Given the description of an element on the screen output the (x, y) to click on. 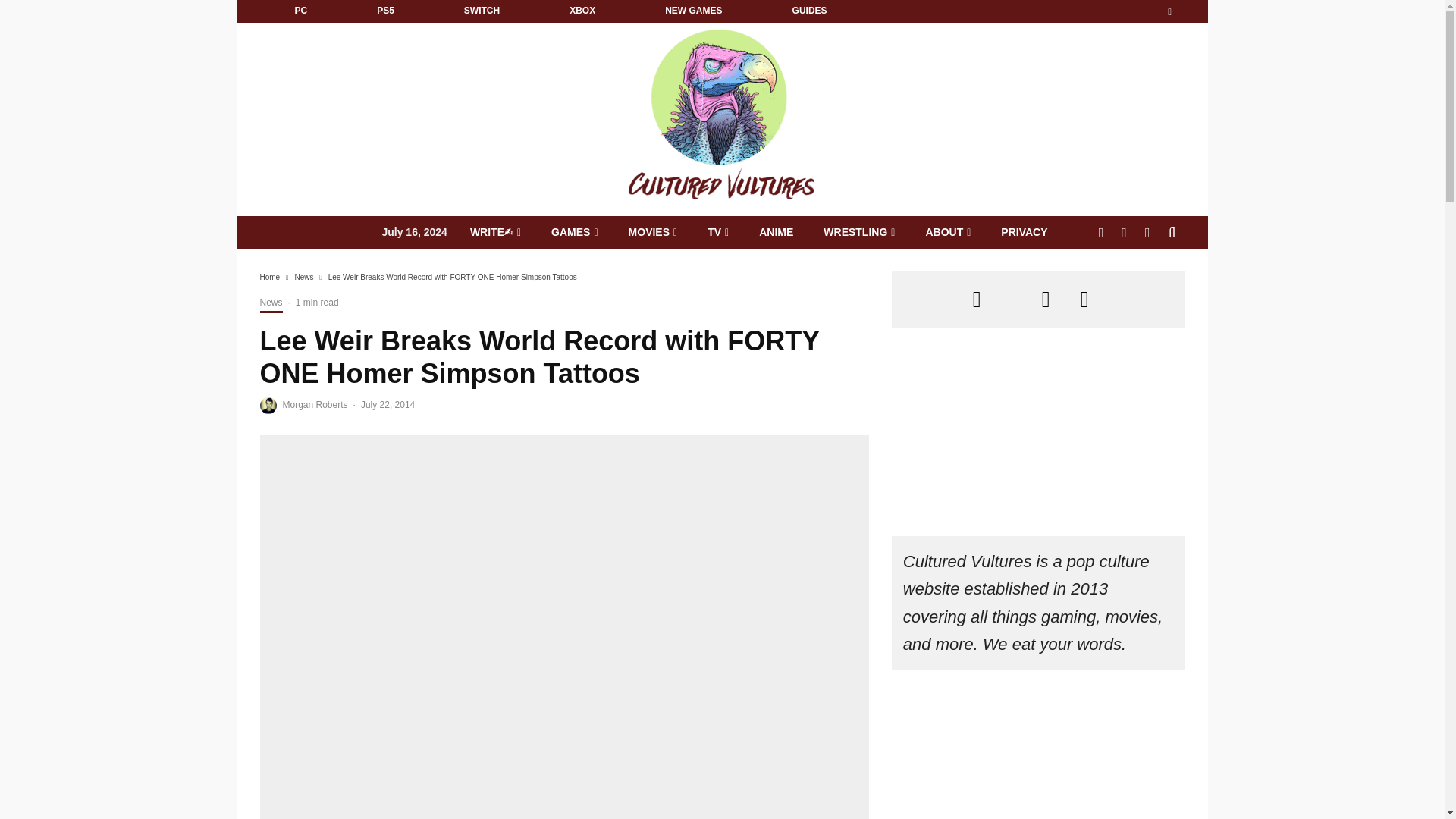
PC (300, 11)
Video Game Guides (809, 11)
XBOX (582, 11)
PS5 (385, 11)
SWITCH (481, 11)
PS5 News (385, 11)
New Games Coming Out (693, 11)
NEW GAMES (693, 11)
GAMES (573, 232)
Switch News (481, 11)
GUIDES (809, 11)
